Given the description of an element on the screen output the (x, y) to click on. 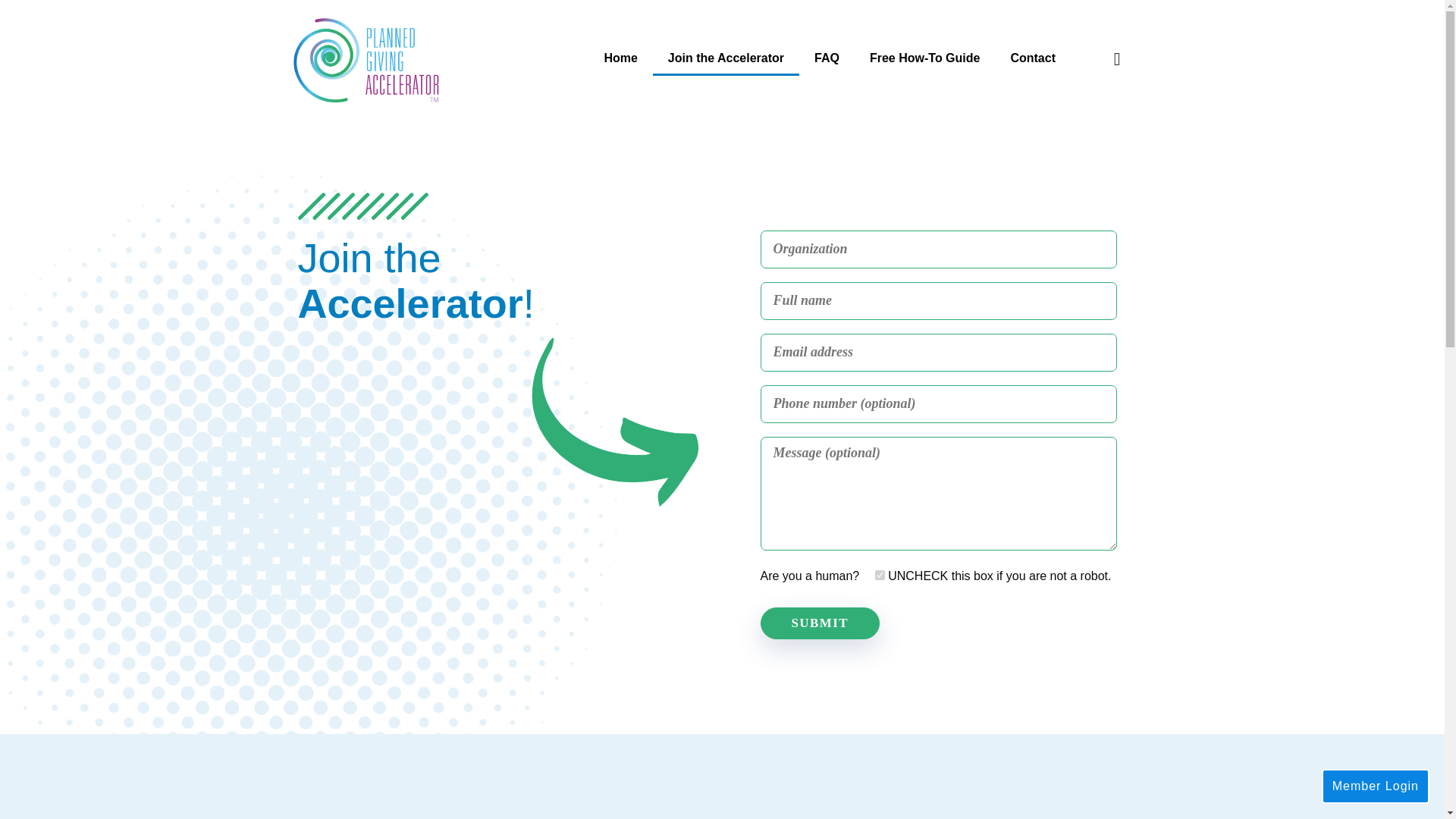
1 (880, 574)
FAQ (826, 58)
Join the Accelerator (725, 58)
Free How-To Guide (924, 58)
Submit (819, 623)
Submit (819, 623)
Home (620, 58)
Contact (1032, 58)
